Given the description of an element on the screen output the (x, y) to click on. 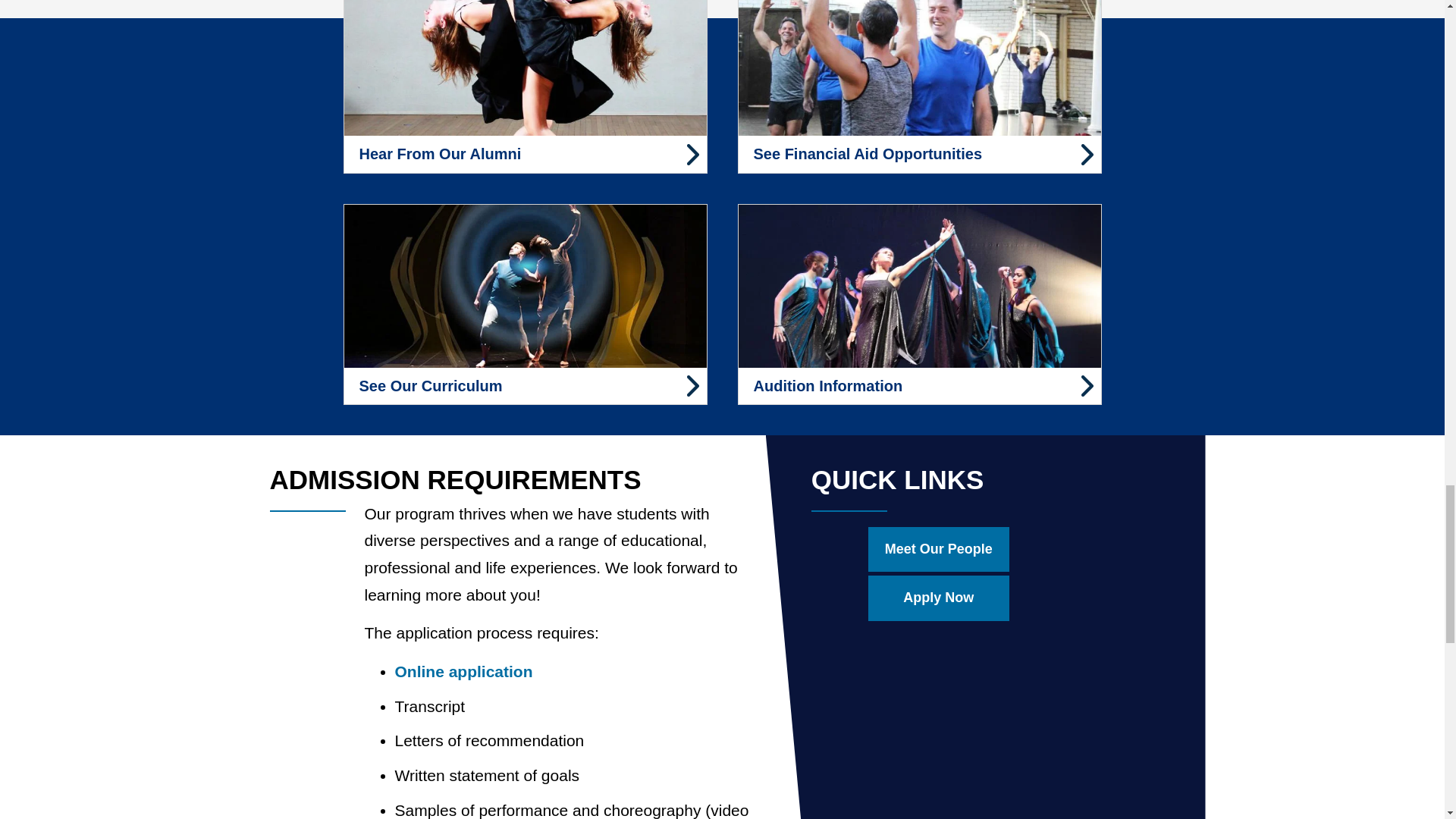
Online application (463, 671)
See Our Curriculum (524, 303)
Hear From Our Alumni (524, 86)
See Financial Aid Opportunities (918, 86)
Apply Now (938, 597)
Audition Information (918, 303)
Meet Our People (938, 549)
